Given the description of an element on the screen output the (x, y) to click on. 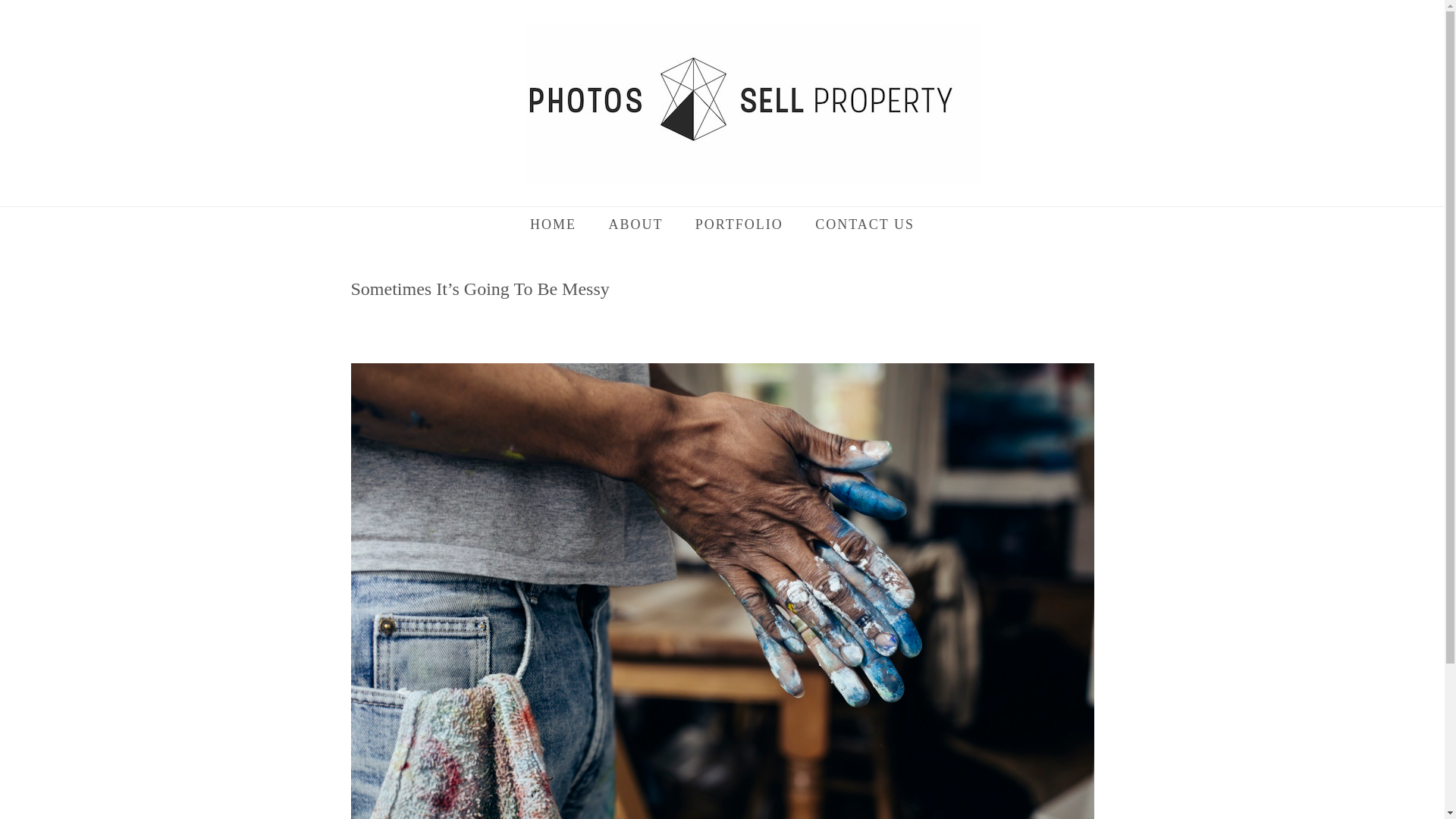
PORTFOLIO (738, 225)
CONTACT US (865, 225)
HOME (553, 225)
ABOUT (636, 225)
